Given the description of an element on the screen output the (x, y) to click on. 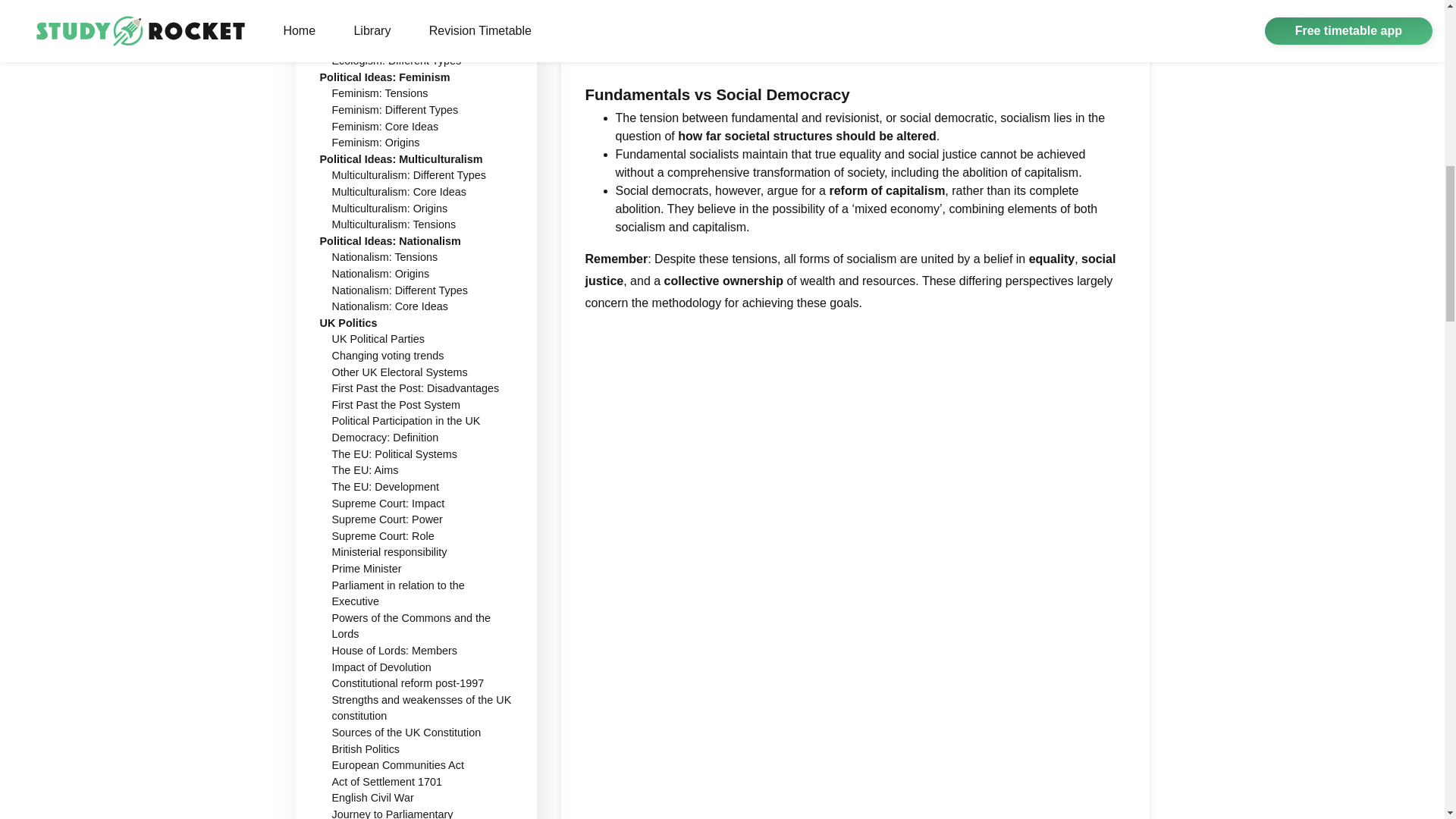
Feminism: Different Types (394, 110)
Ecologism: Tensions (380, 10)
Feminism: Core Ideas (385, 125)
Nationalism: Origins (380, 273)
Ecologism: Different Types (396, 60)
Multiculturalism: Different Types (408, 174)
Feminism: Tensions (379, 92)
Nationalism: Tensions (384, 256)
Feminism: Origins (375, 142)
Ecologism: Core Ideas (386, 28)
